Given the description of an element on the screen output the (x, y) to click on. 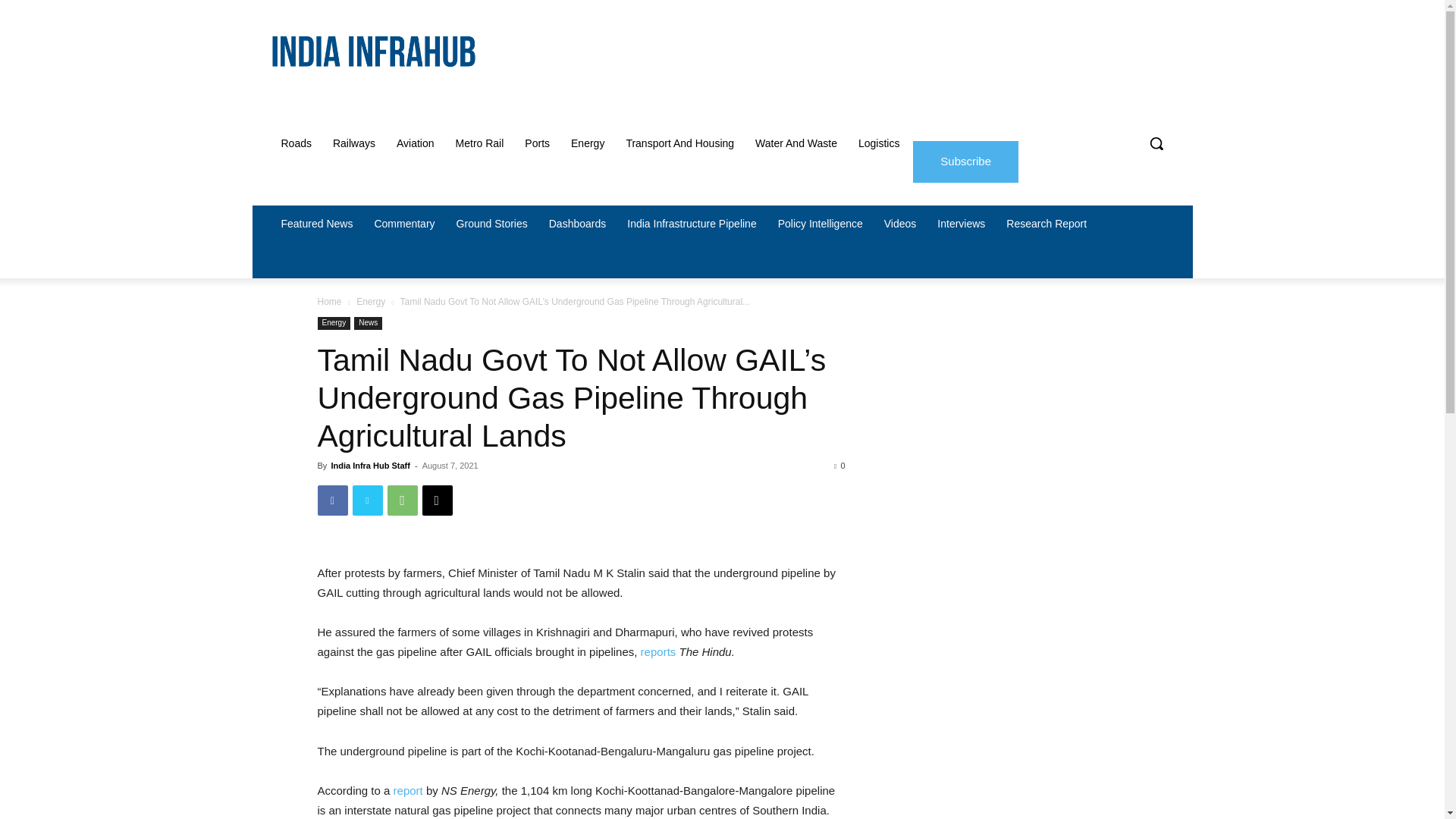
Water And Waste (795, 143)
Energy (587, 143)
WhatsApp (401, 500)
India Infrastructure Pipeline (691, 223)
Twitter (366, 500)
Subscribe (964, 161)
Commentary (403, 223)
Ground Stories (491, 223)
Railways (353, 143)
Aviation (415, 143)
Metro Rail (480, 143)
Ports (536, 143)
Roads (295, 143)
